Given the description of an element on the screen output the (x, y) to click on. 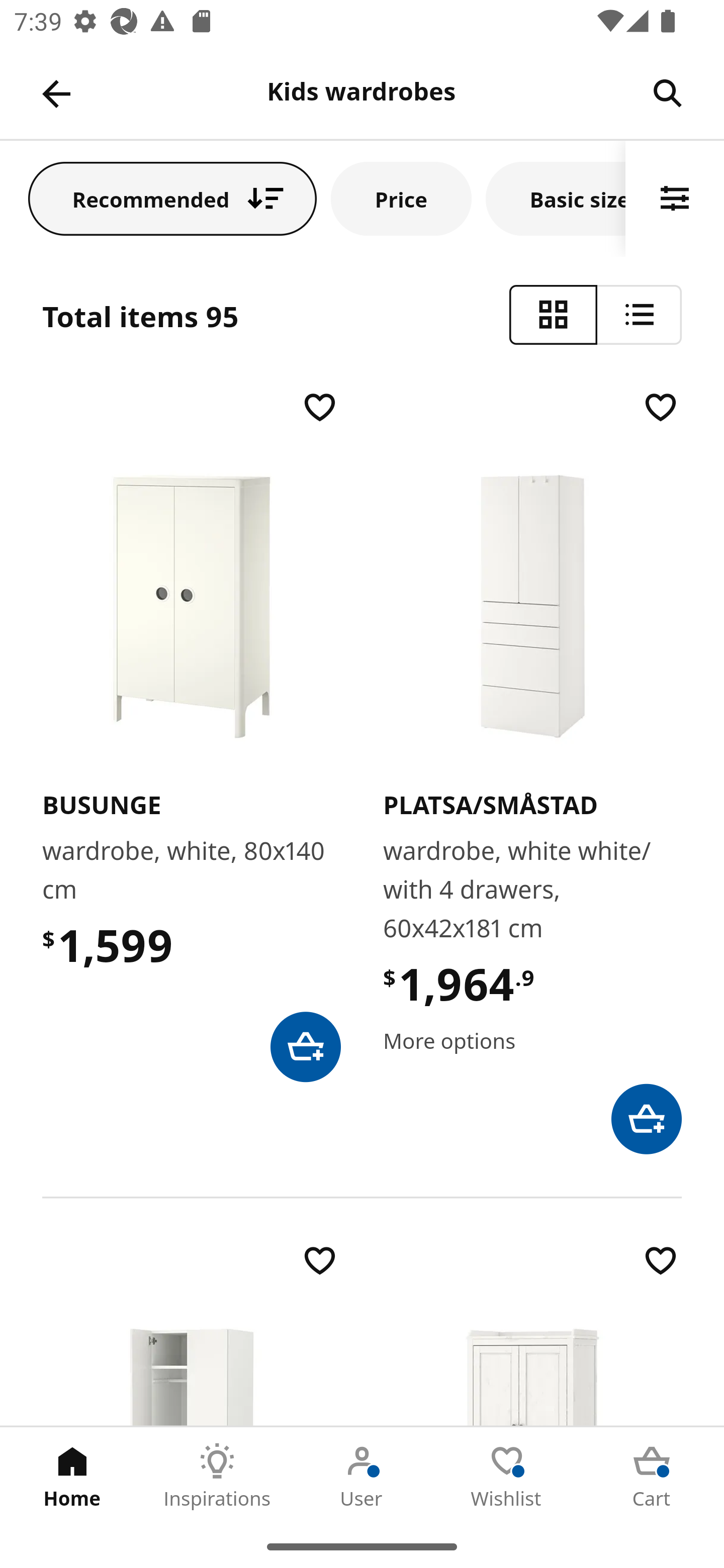
Recommended (172, 198)
Price (400, 198)
Basic sizes (555, 198)
​B​U​S​U​N​G​E​
wardrobe, white, 80x140 cm
$
1,599 (191, 734)
Home
Tab 1 of 5 (72, 1476)
Inspirations
Tab 2 of 5 (216, 1476)
User
Tab 3 of 5 (361, 1476)
Wishlist
Tab 4 of 5 (506, 1476)
Cart
Tab 5 of 5 (651, 1476)
